Given the description of an element on the screen output the (x, y) to click on. 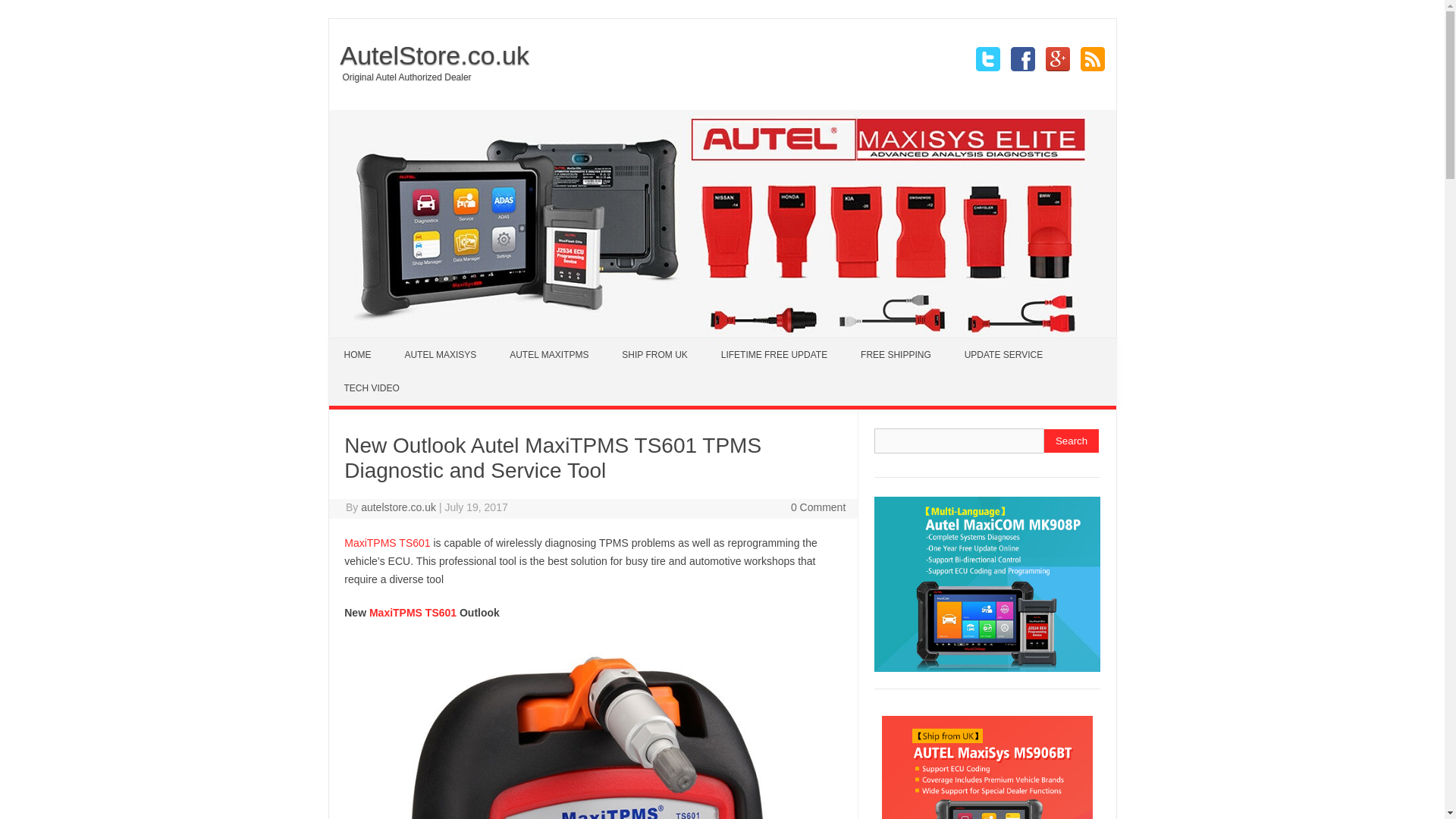
Search (1070, 440)
MaxiTPMS TS601 (413, 612)
UPDATE SERVICE (1003, 354)
HOME (358, 354)
Posts by autelstore.co.uk (398, 507)
AutelStore.co.uk (429, 54)
FREE SHIPPING (895, 354)
AutelStore.co.uk (429, 54)
TECH VIDEO (371, 387)
AUTEL MAXISYS (440, 354)
LIFETIME FREE UPDATE (774, 354)
Skip to content (363, 342)
MaxiTPMS TS601 (386, 542)
SHIP FROM UK (654, 354)
